Given the description of an element on the screen output the (x, y) to click on. 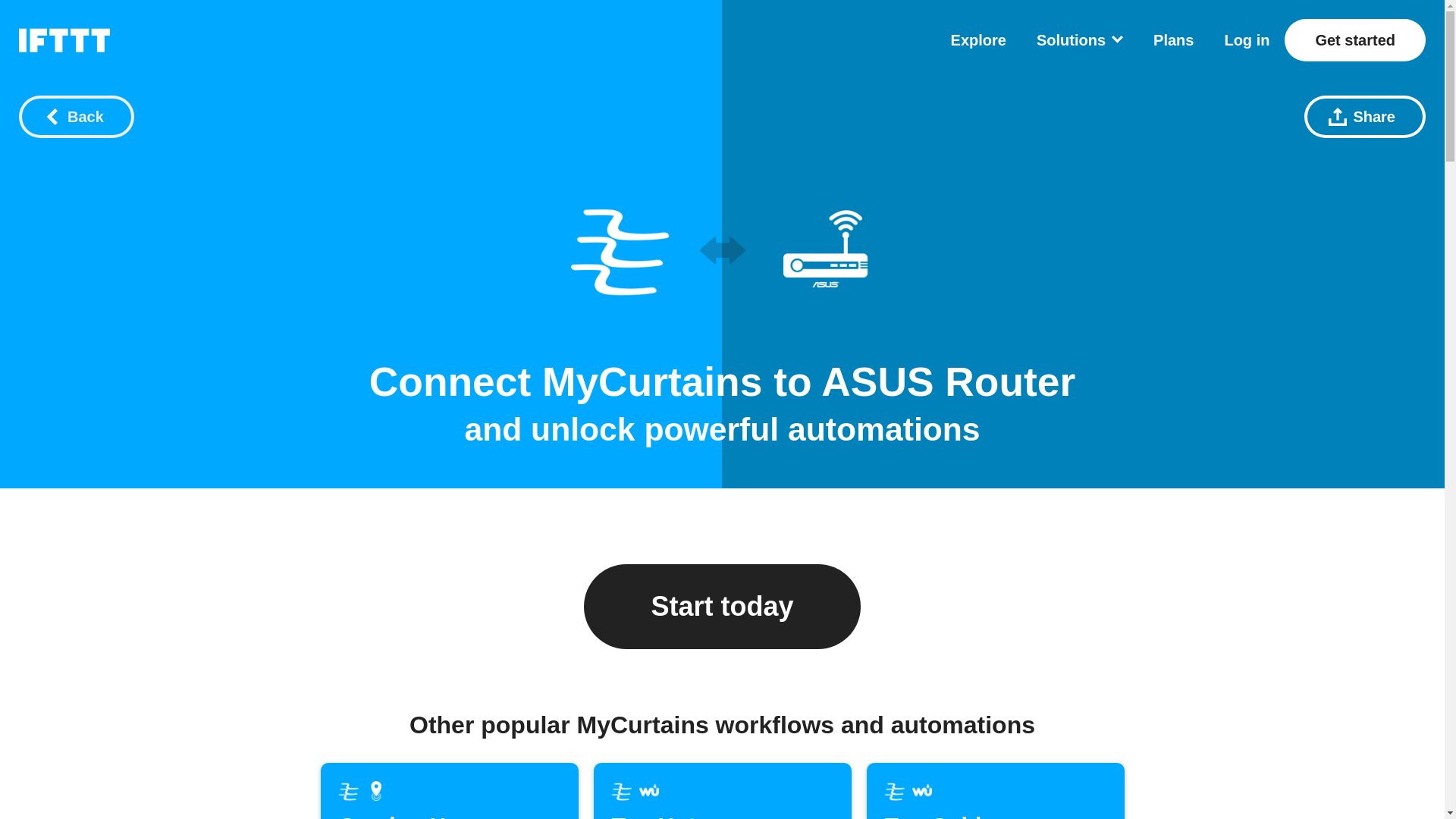
ASUS Router (823, 248)
Home (64, 40)
Log in (449, 790)
Explore (1246, 39)
MyCurtains (978, 39)
ASUS Router (721, 790)
Plans (619, 248)
ASUS Router (948, 381)
